Given the description of an element on the screen output the (x, y) to click on. 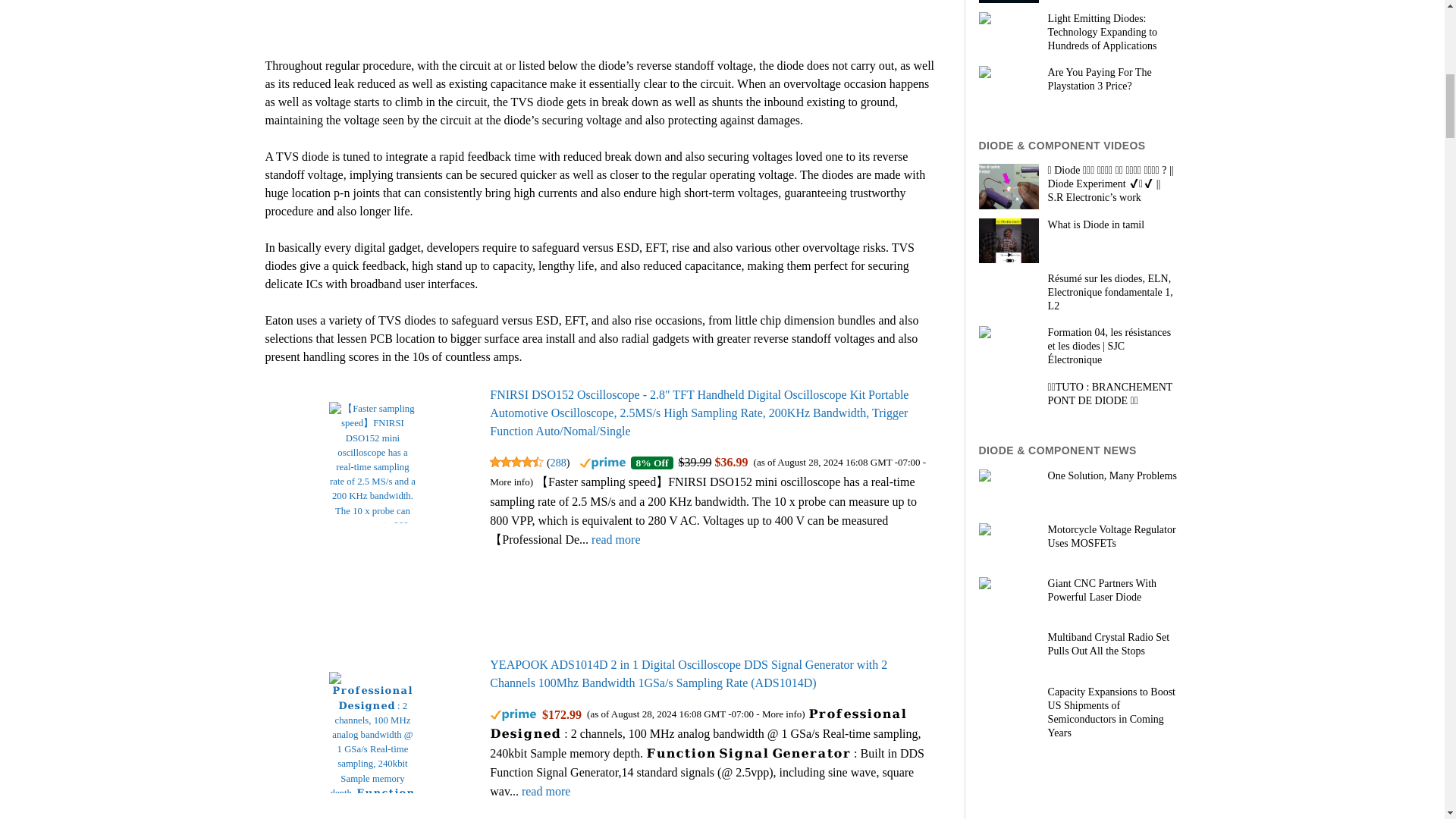
read more (615, 539)
More info (781, 713)
read more (545, 790)
More info (509, 481)
FNIRSI DSO152 Oscilloscope - 2.8 (698, 412)
288 (558, 462)
How TVS Diodes work (453, 16)
